Given the description of an element on the screen output the (x, y) to click on. 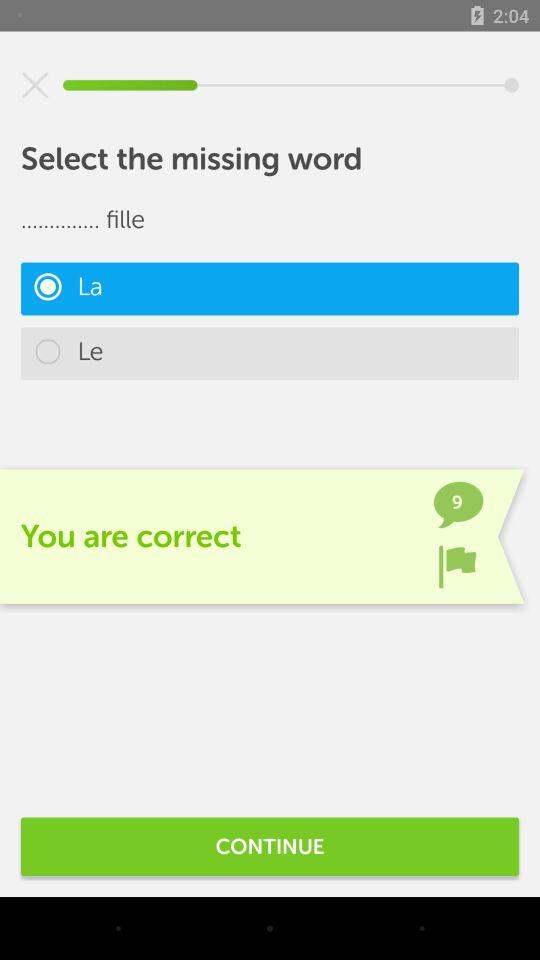
scroll to the continue icon (270, 846)
